Given the description of an element on the screen output the (x, y) to click on. 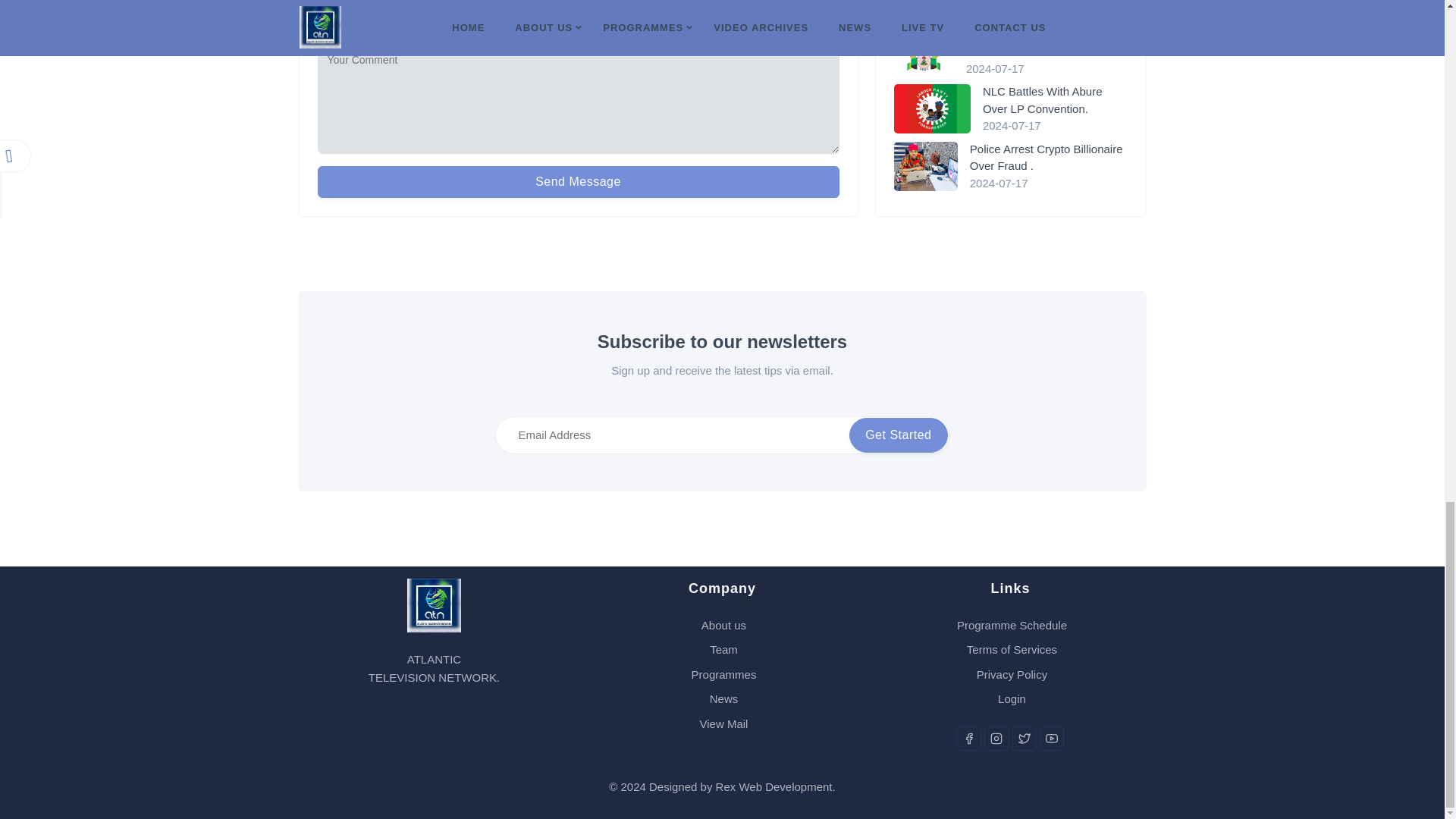
Send Message (577, 182)
